Given the description of an element on the screen output the (x, y) to click on. 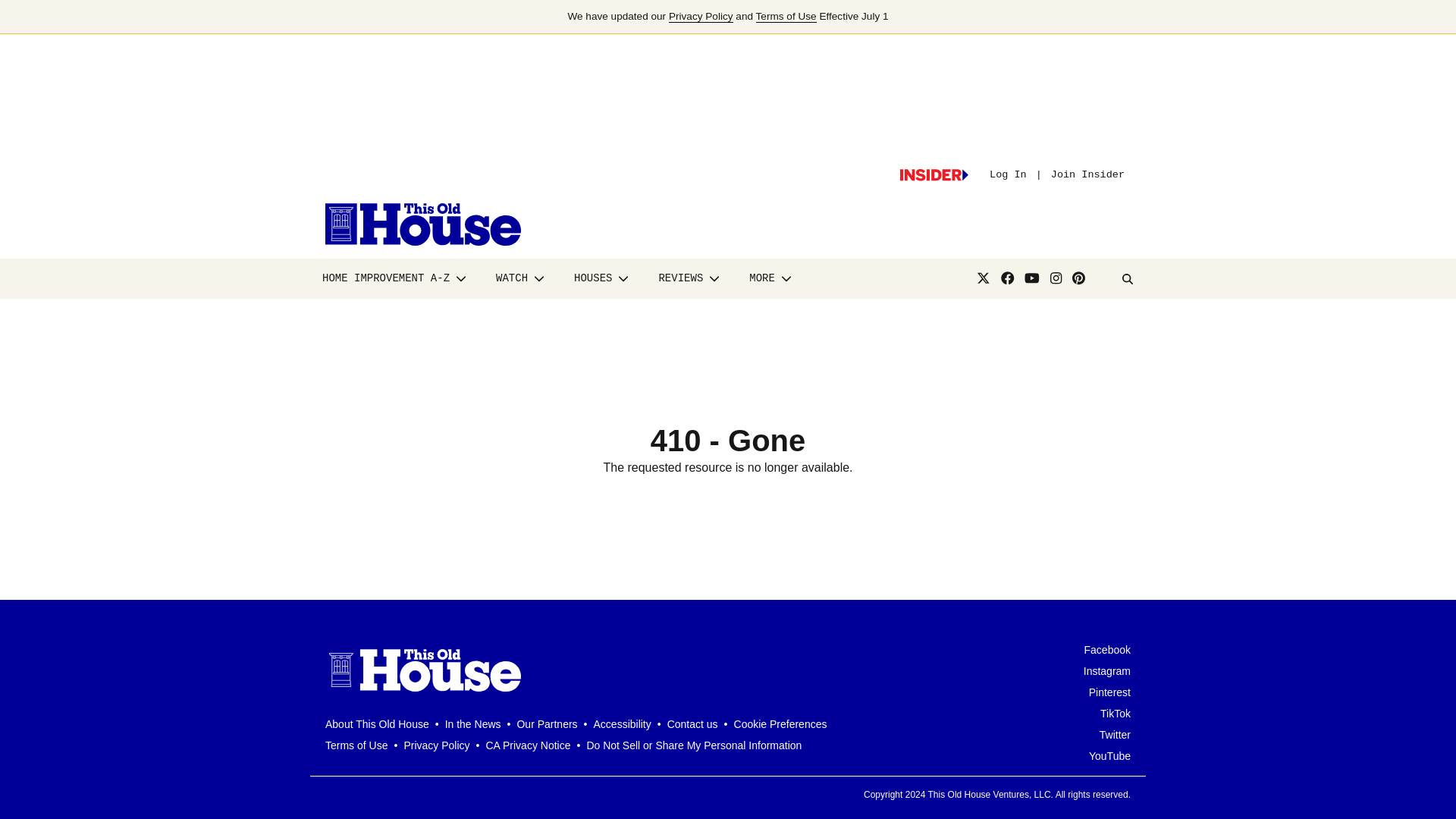
Log in or sign up (933, 174)
Terms of Use (785, 16)
Join Insider (1087, 174)
Log In (1008, 174)
Privacy Policy (700, 16)
